Given the description of an element on the screen output the (x, y) to click on. 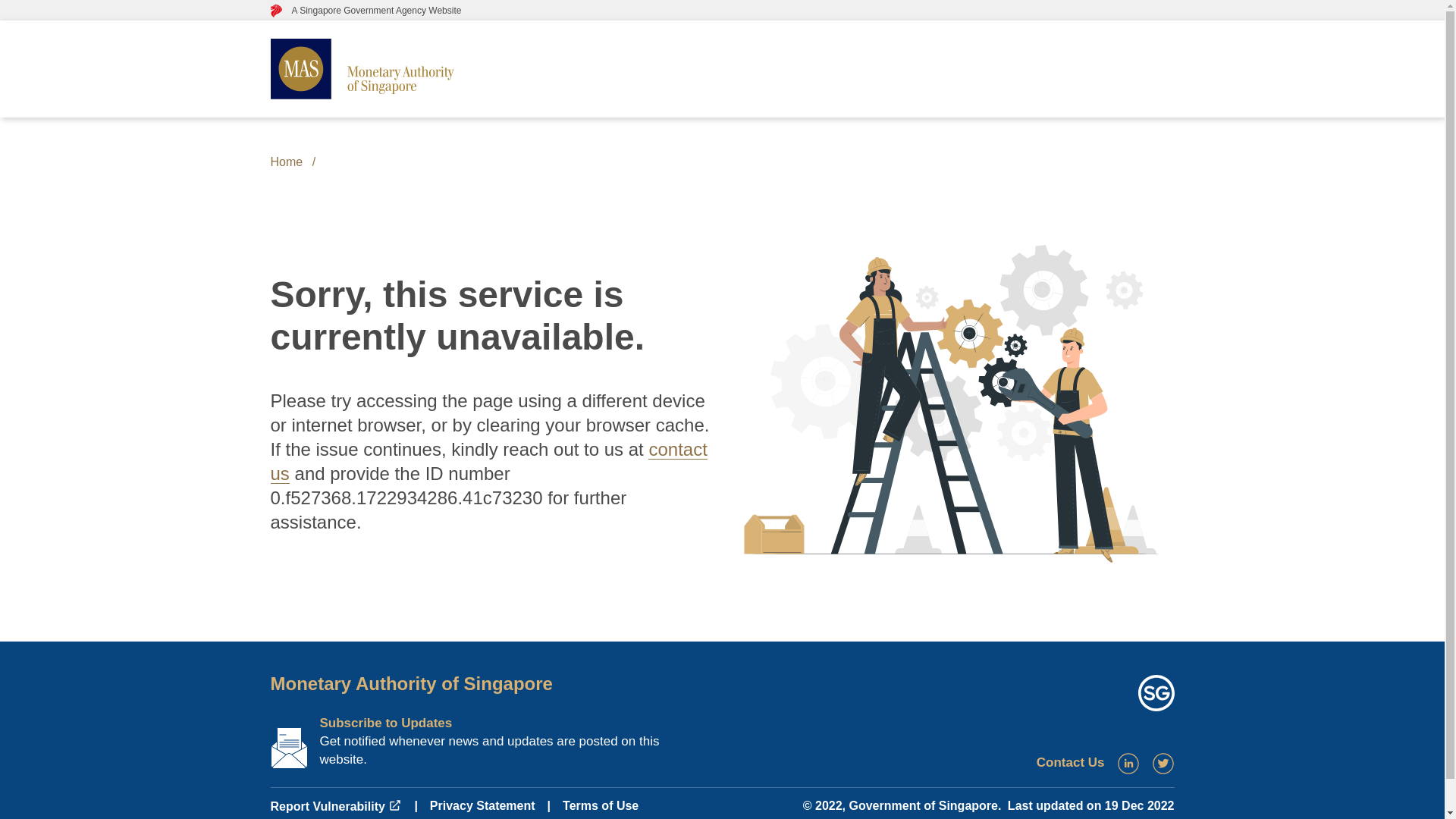
Contact Us (1070, 762)
Privacy Statement (482, 805)
Home (285, 161)
Monetary Authority of Singapore (410, 683)
A Singapore Government Agency Website (365, 10)
contact us (487, 461)
Terms of Use (600, 805)
Report Vulnerability (335, 806)
